Given the description of an element on the screen output the (x, y) to click on. 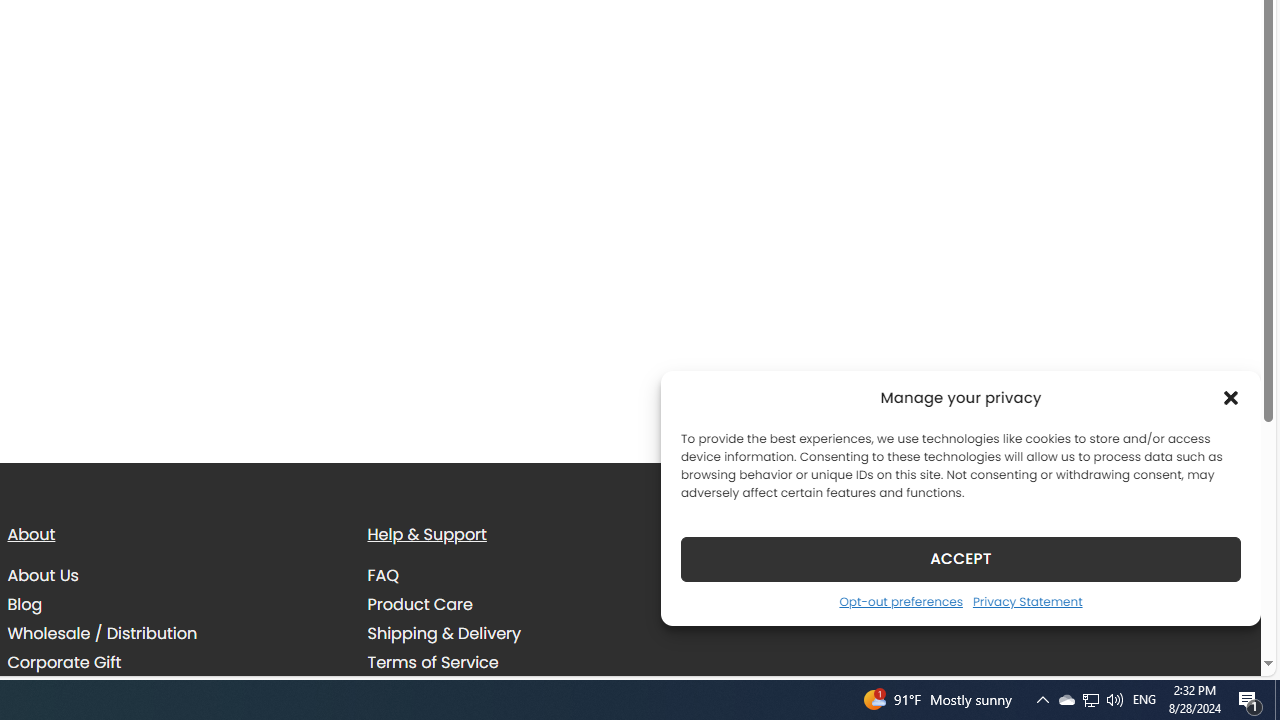
Corporate Gift (171, 662)
Product Care (420, 605)
ACCEPT (960, 558)
Wholesale / Distribution (171, 633)
Wholesale / Distribution (102, 633)
Go to top (1220, 647)
